Given the description of an element on the screen output the (x, y) to click on. 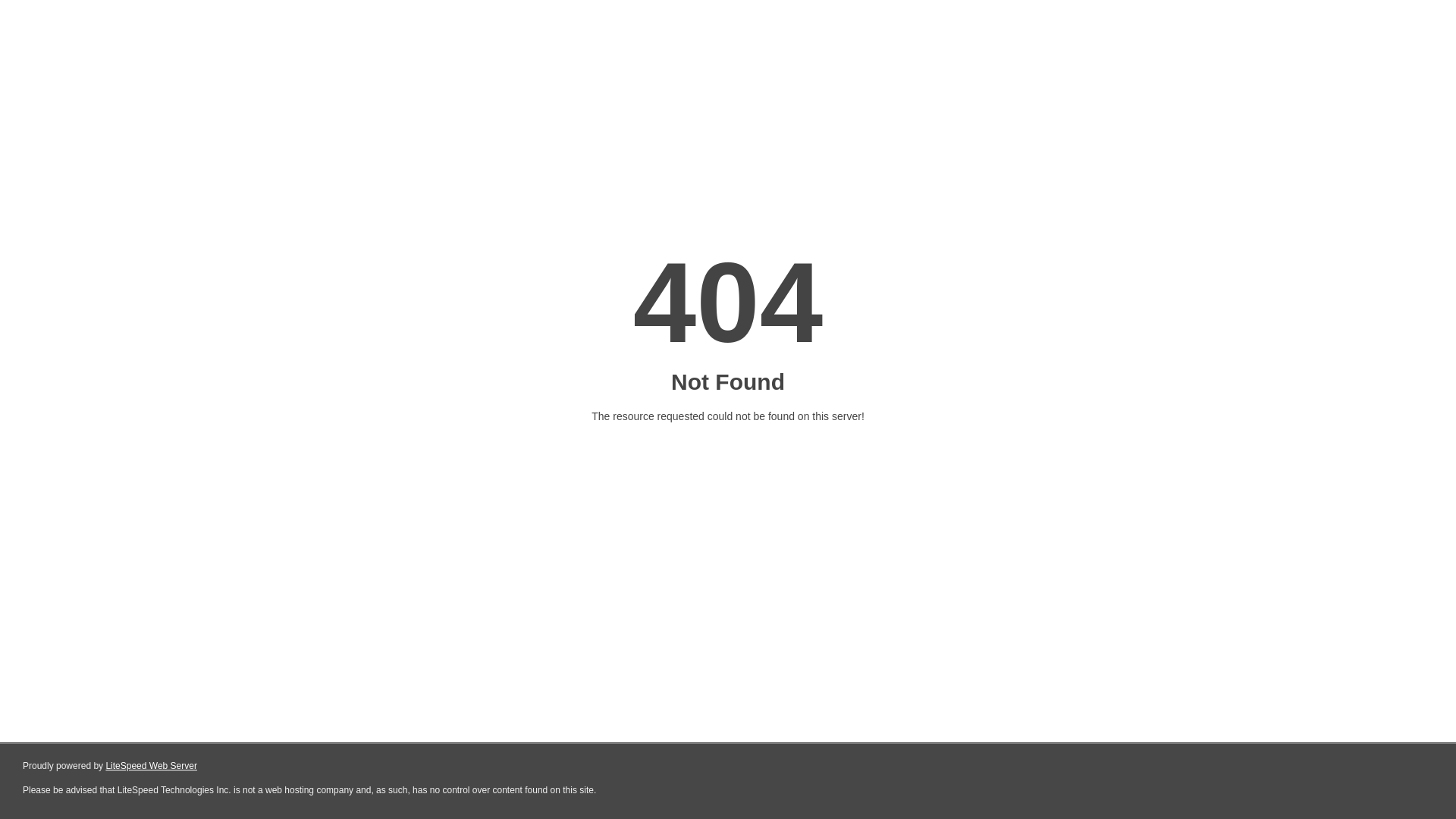
LiteSpeed Web Server Element type: text (151, 765)
